Given the description of an element on the screen output the (x, y) to click on. 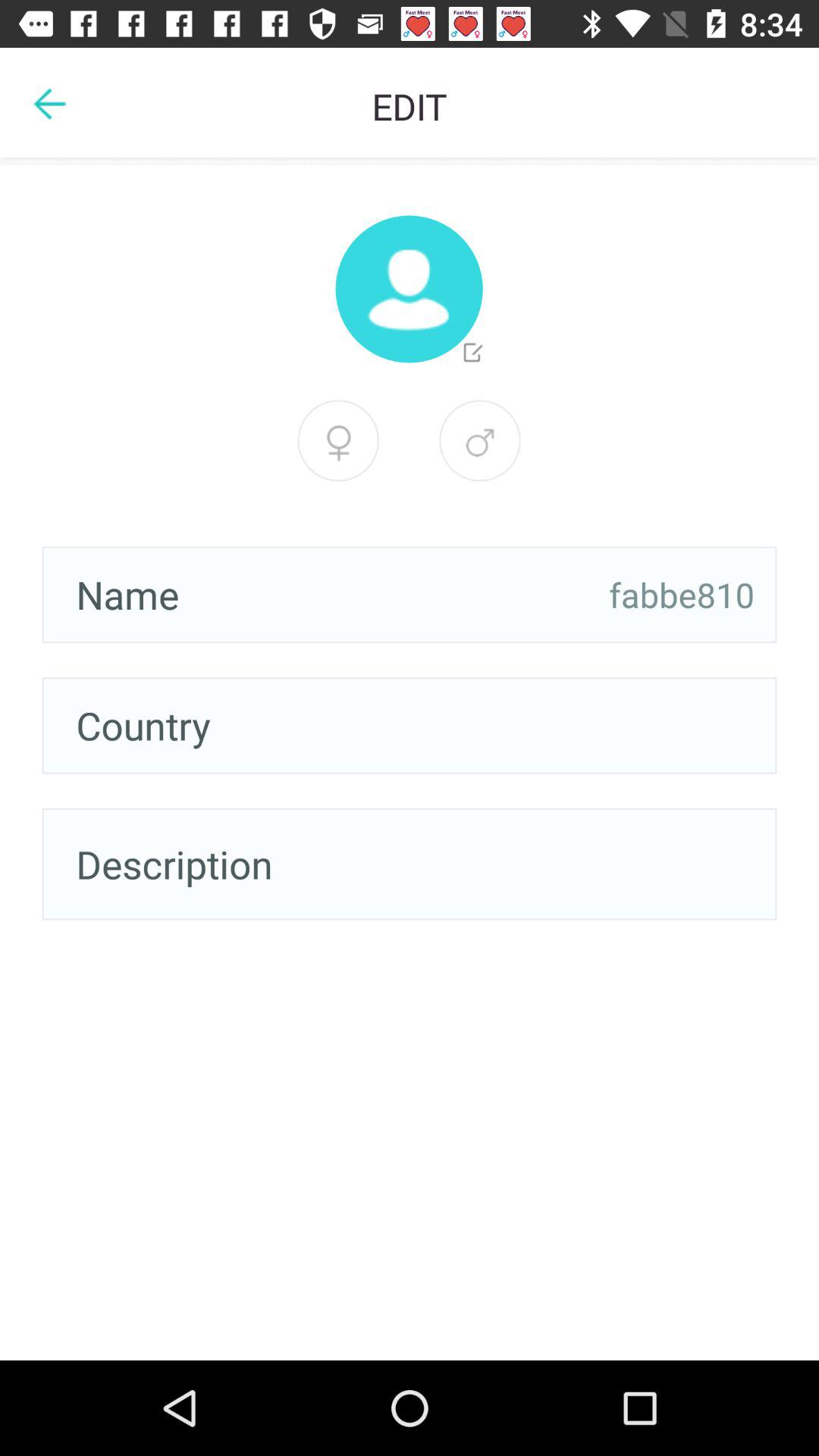
choose male gender (479, 440)
